Given the description of an element on the screen output the (x, y) to click on. 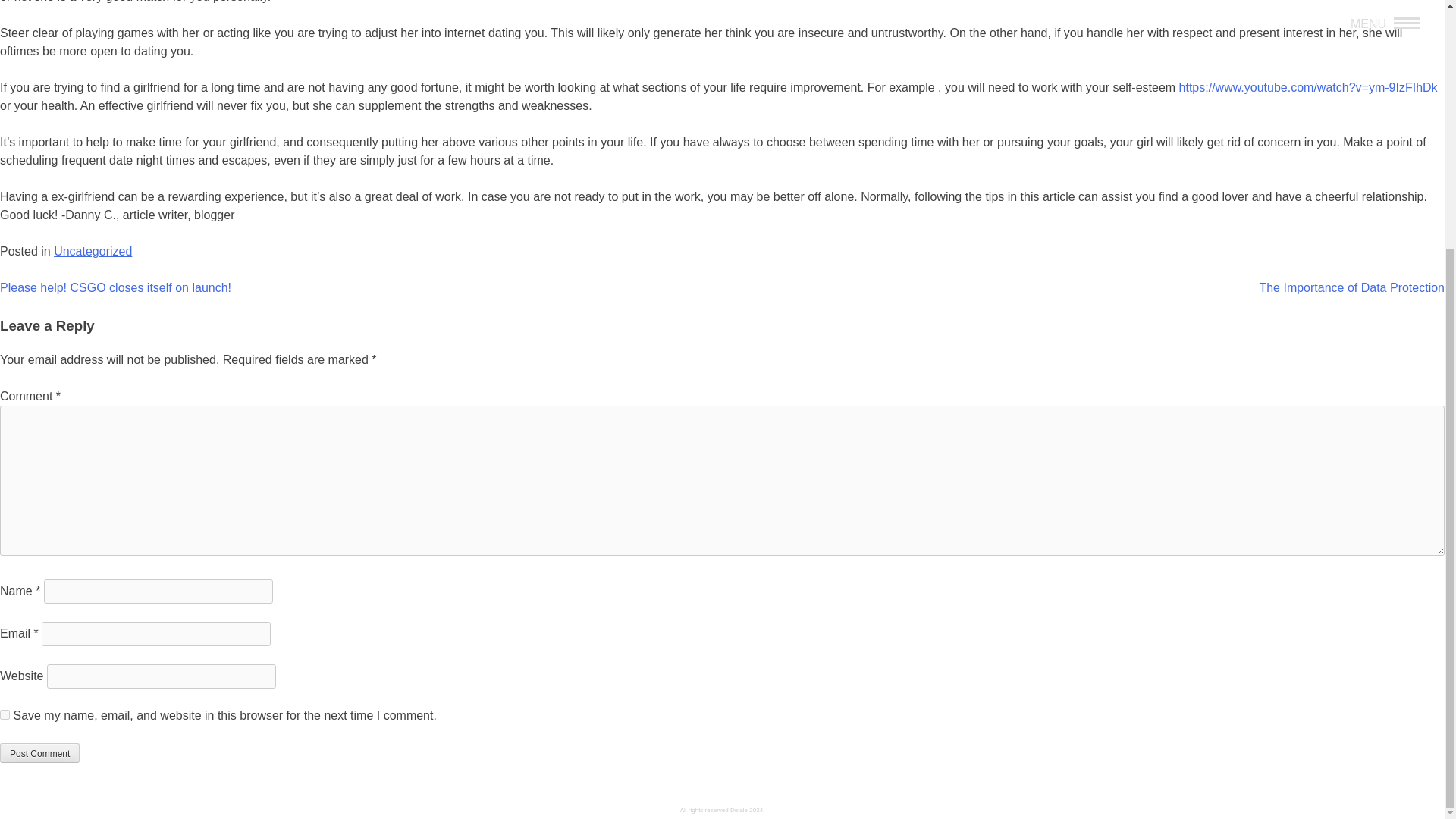
Please help! CSGO closes itself on launch! (115, 287)
Post Comment (40, 752)
Uncategorized (92, 250)
yes (5, 714)
Post Comment (40, 752)
